Given the description of an element on the screen output the (x, y) to click on. 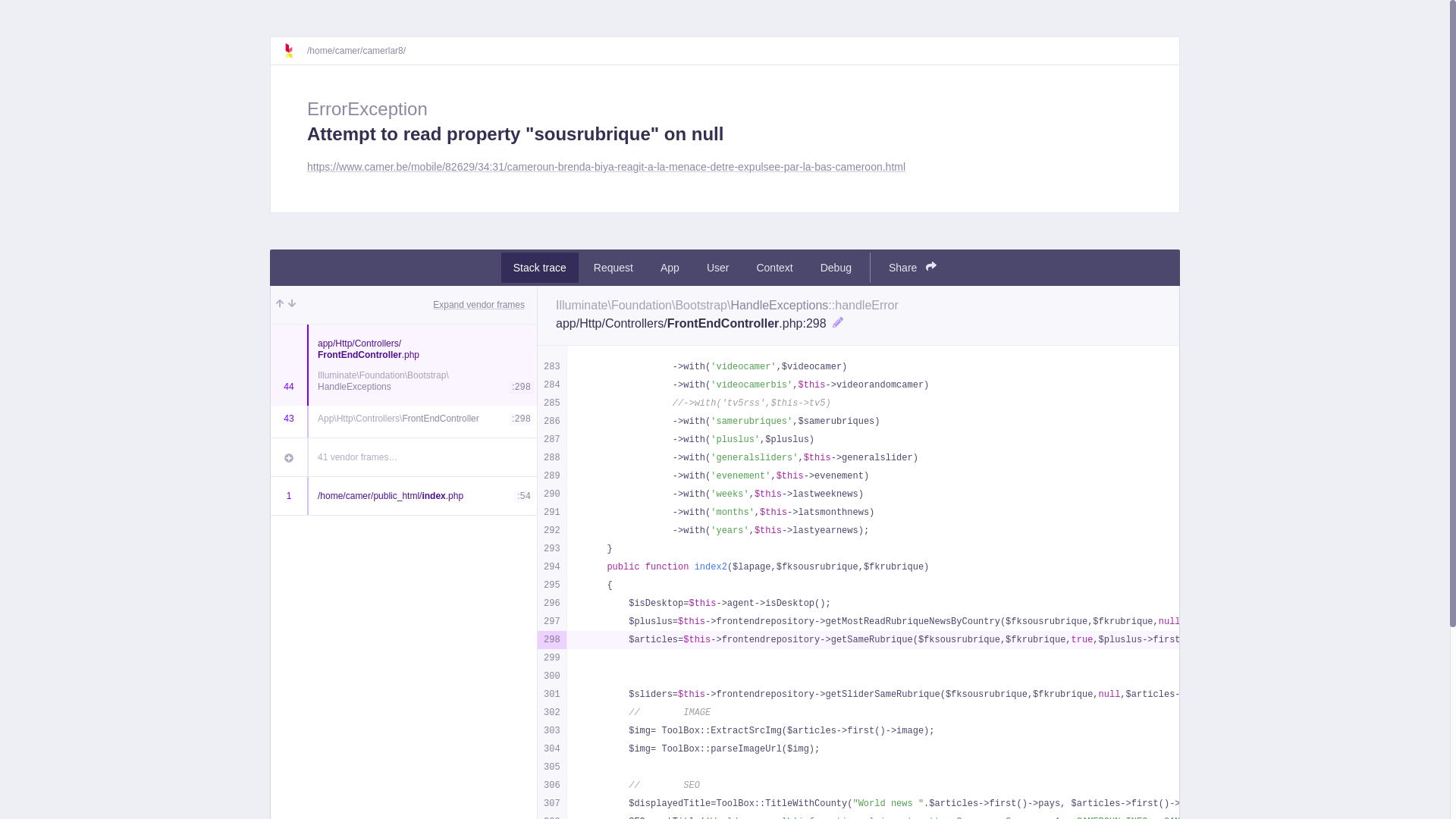
Context Element type: text (773, 267)
Debug Element type: text (835, 267)
Frame down (Key:J) Element type: hover (291, 304)
Share Element type: text (912, 267)
Frame up (Key:K) Element type: hover (279, 304)
Ignition docs Element type: hover (294, 50)
User Element type: text (717, 267)
Expand vendor frames Element type: text (478, 304)
Stack trace Element type: text (539, 267)
App Element type: text (669, 267)
Request Element type: text (613, 267)
